Given the description of an element on the screen output the (x, y) to click on. 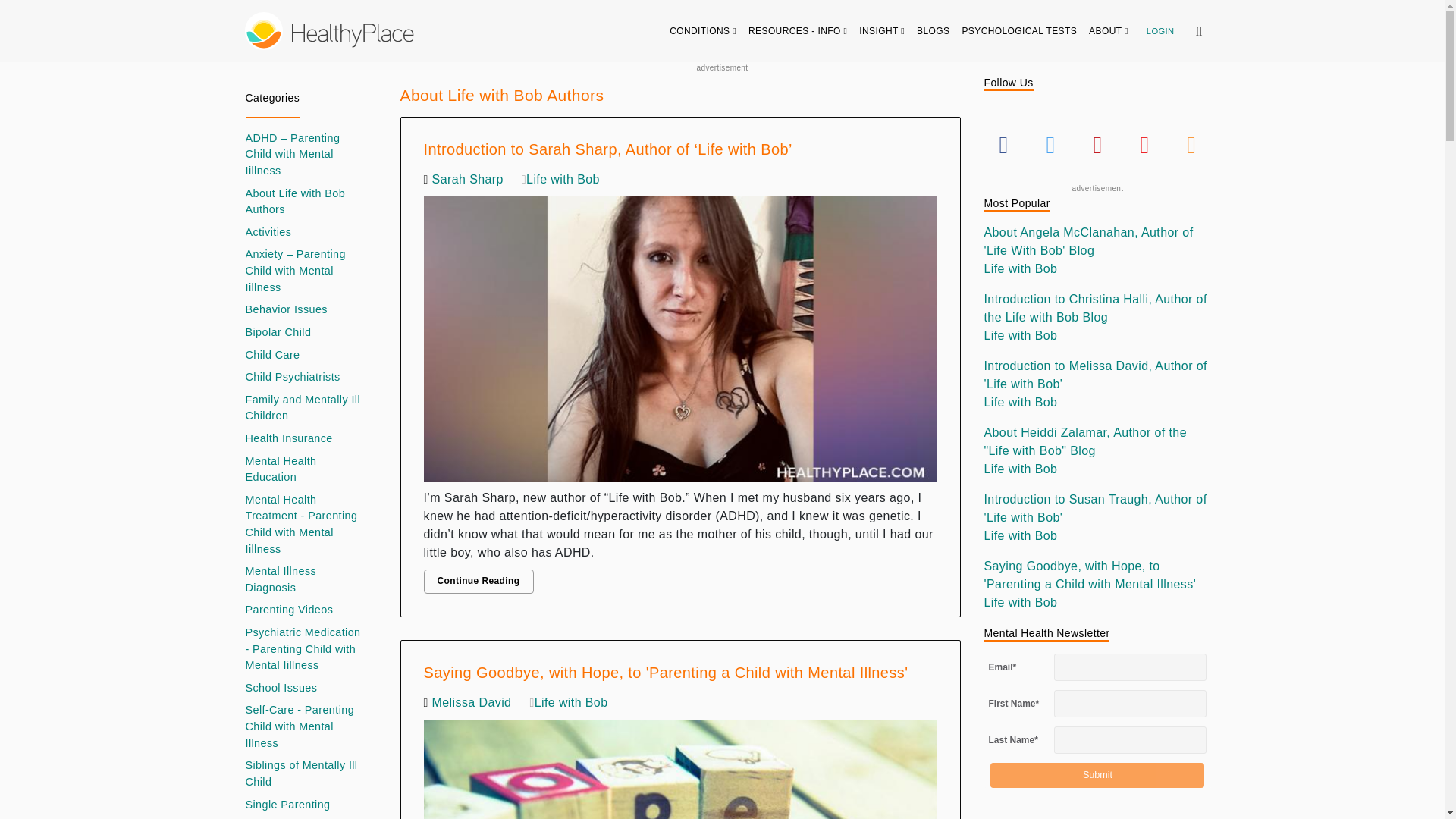
INSIGHT (882, 31)
CONDITIONS (702, 31)
Submit (1097, 774)
RESOURCES - INFO (797, 31)
